Given the description of an element on the screen output the (x, y) to click on. 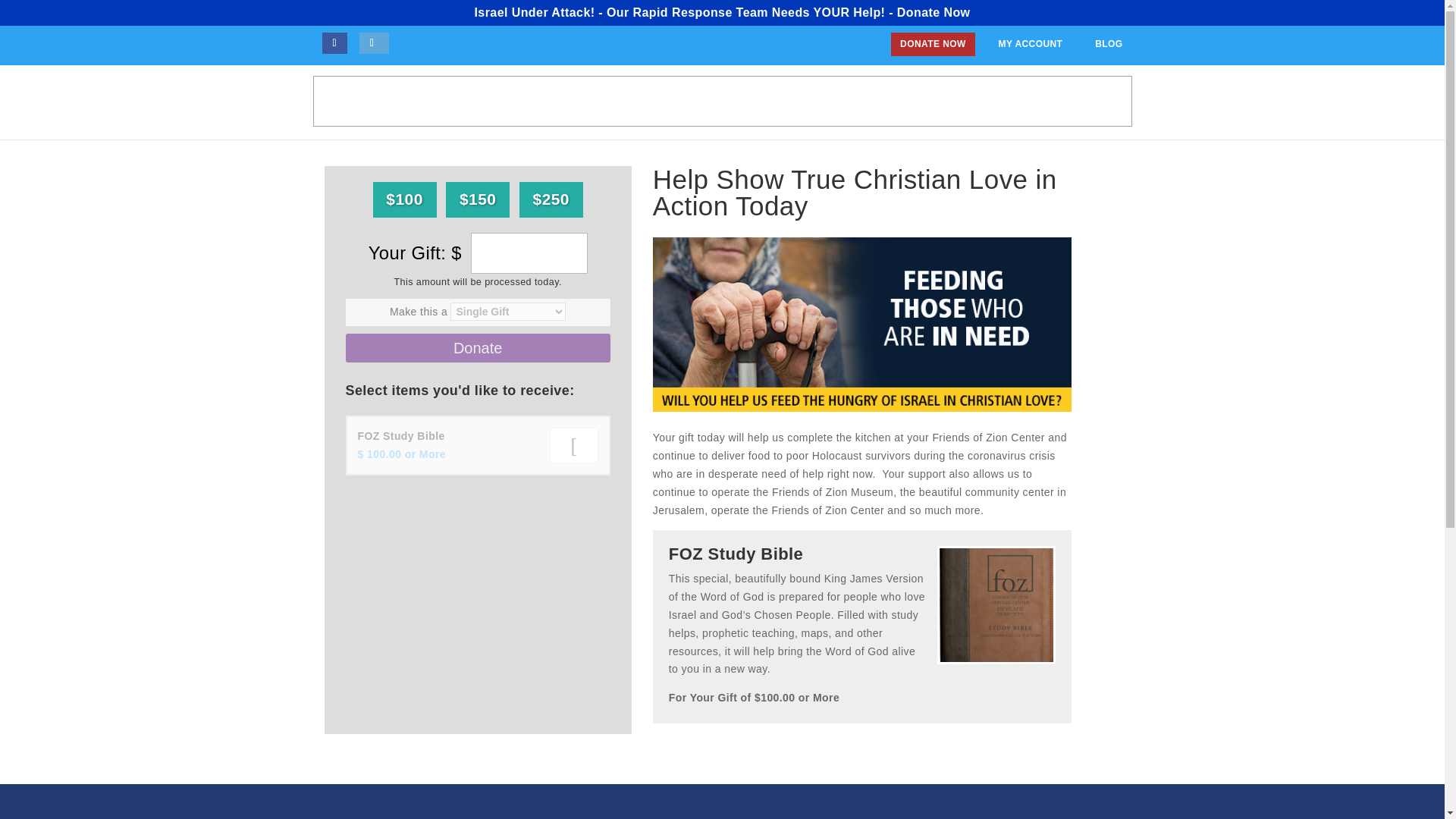
LEARN (766, 101)
Amount (529, 252)
BLOG (1108, 44)
ABOUT (710, 101)
HOME (656, 101)
GIVE (1085, 101)
STORE (1036, 101)
OUTREACHES (961, 101)
DONATE NOW (933, 44)
MEMBERS (877, 101)
MY ACCOUNT (1029, 44)
PRAY (817, 101)
